Given the description of an element on the screen output the (x, y) to click on. 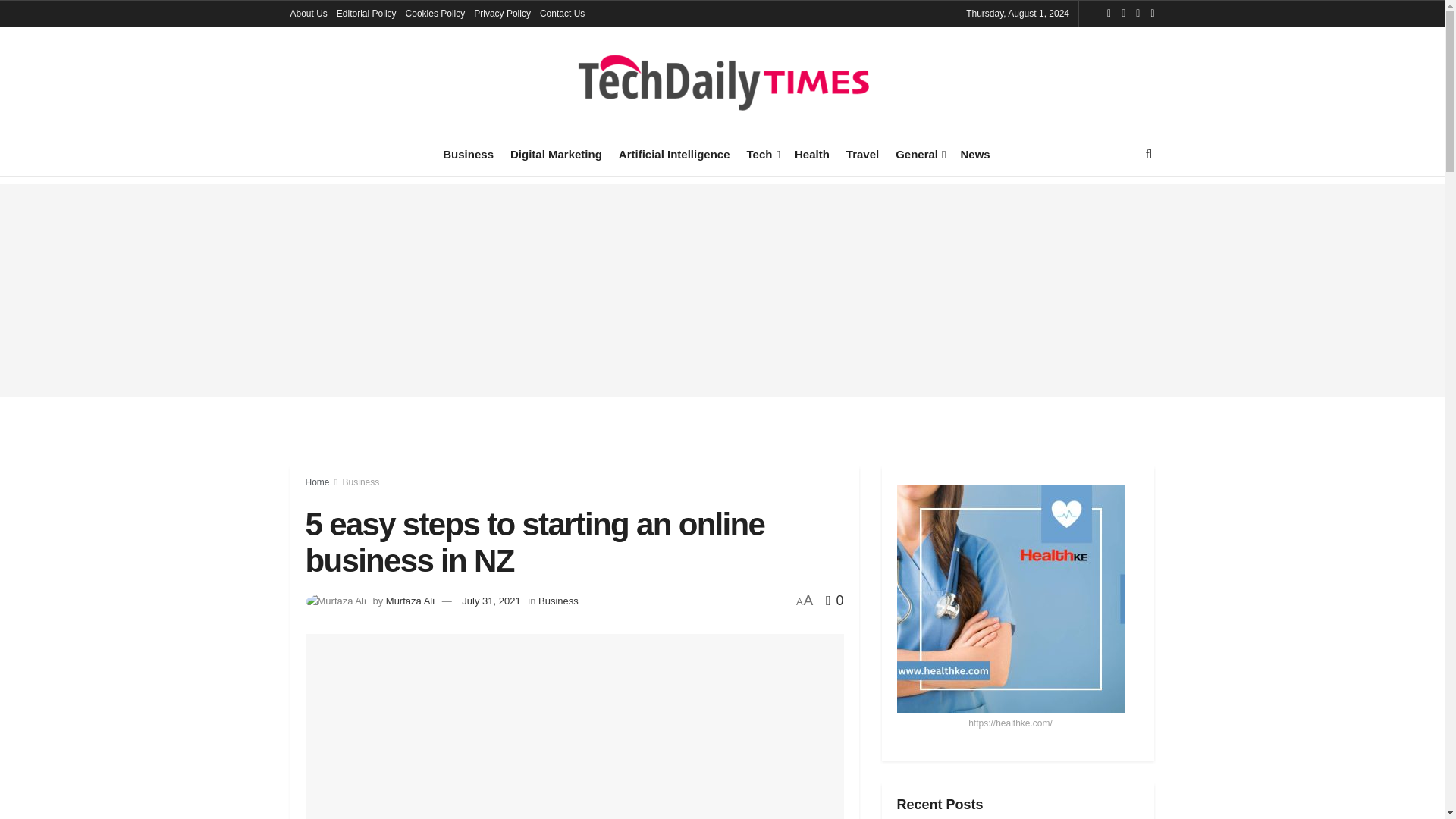
Contact Us (562, 13)
About Us (307, 13)
Business (467, 154)
Editorial Policy (366, 13)
General (919, 154)
Digital Marketing (556, 154)
Privacy Policy (502, 13)
Artificial Intelligence (674, 154)
Cookies Policy (435, 13)
